Given the description of an element on the screen output the (x, y) to click on. 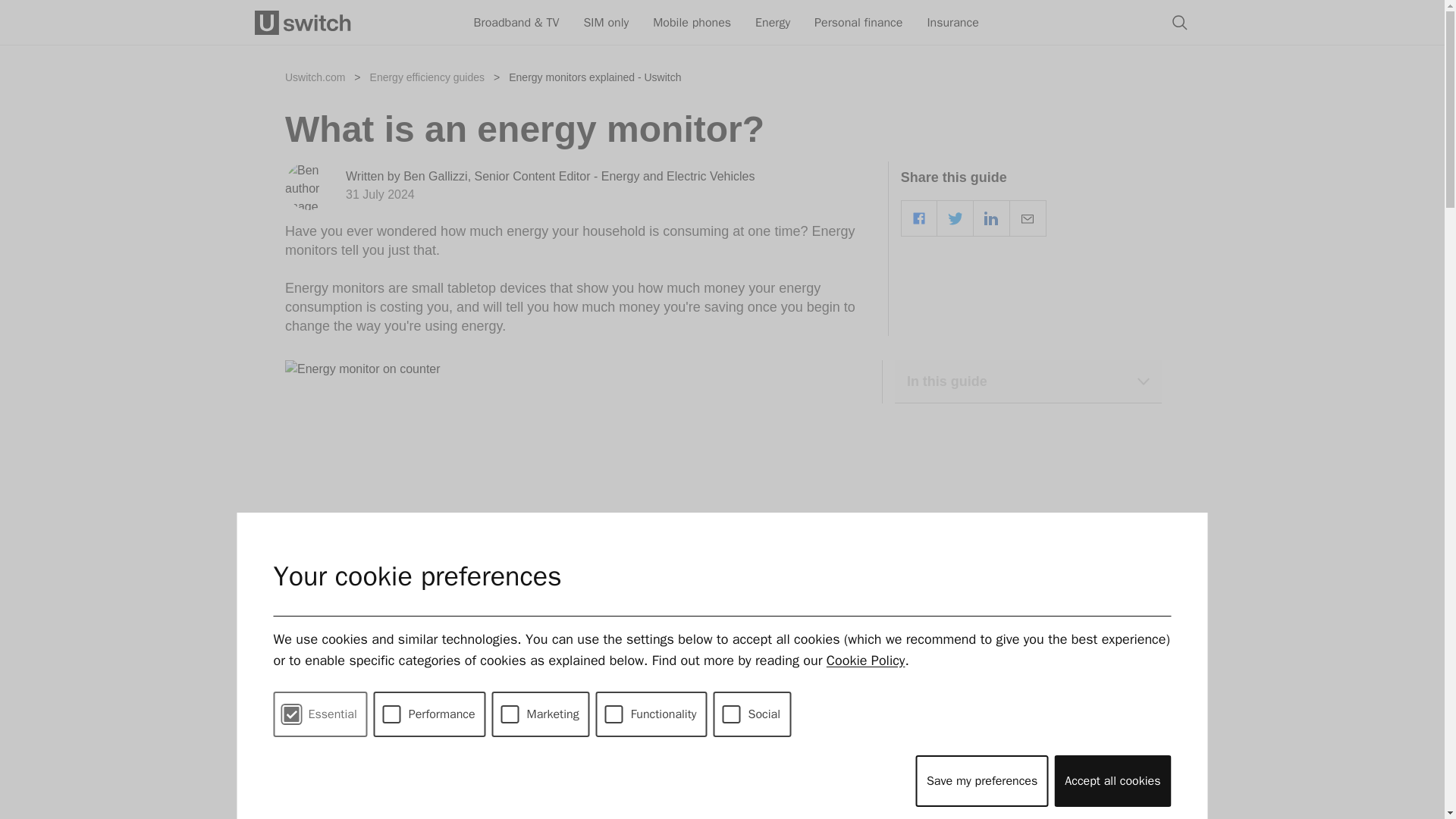
Skip to main content (721, 6)
true (391, 714)
Cookie Policy (866, 660)
true (731, 714)
Accept all cookies (1112, 780)
USwitch.com (305, 22)
true (509, 714)
true (290, 714)
Save my preferences (981, 780)
true (614, 714)
